Given the description of an element on the screen output the (x, y) to click on. 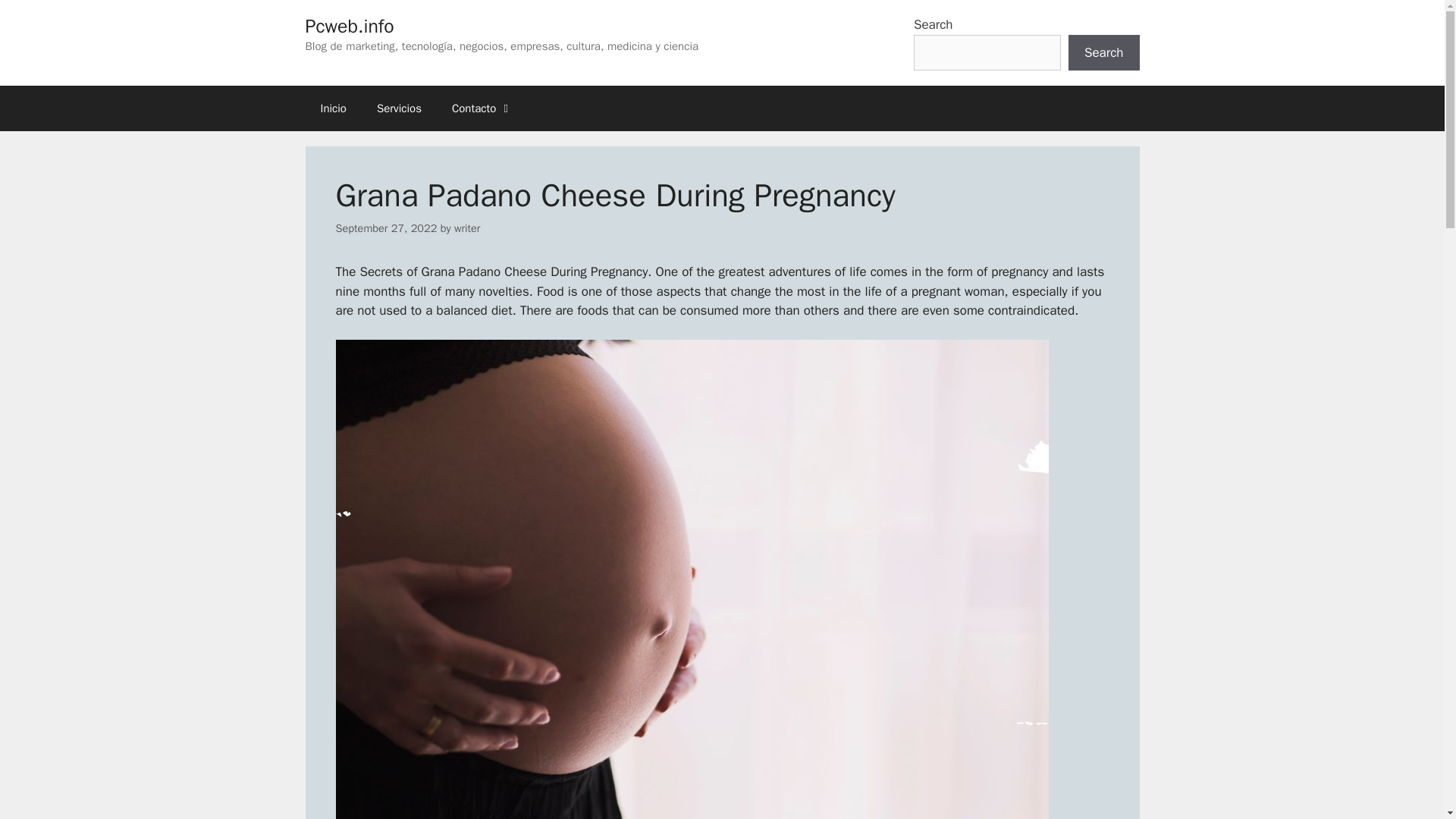
Search (1104, 53)
Servicios (398, 108)
Pcweb.info (348, 25)
Inicio (332, 108)
Contacto (481, 108)
View all posts by writer (467, 228)
writer (467, 228)
